Given the description of an element on the screen output the (x, y) to click on. 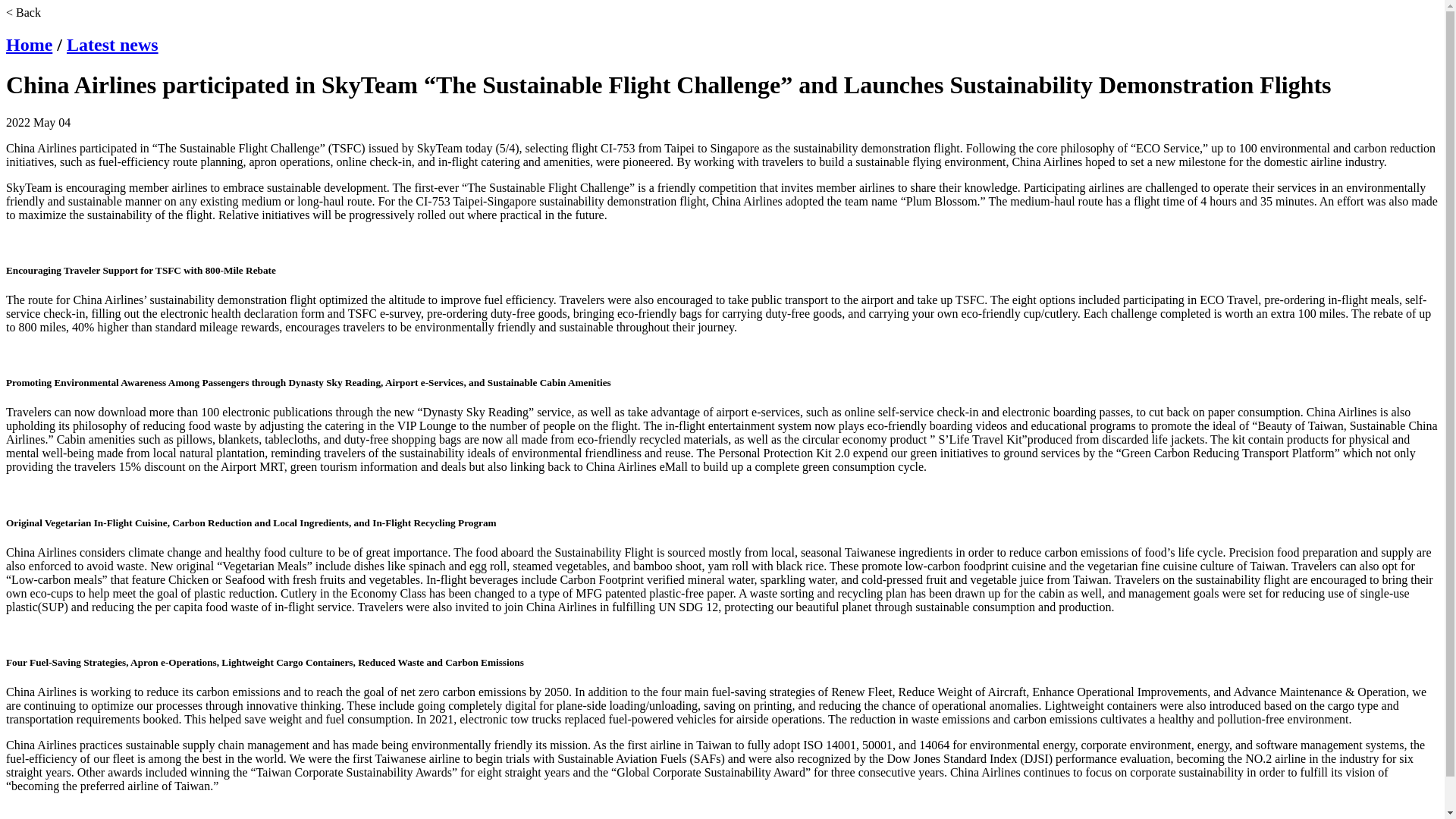
Latest news (112, 44)
Home (28, 44)
